Given the description of an element on the screen output the (x, y) to click on. 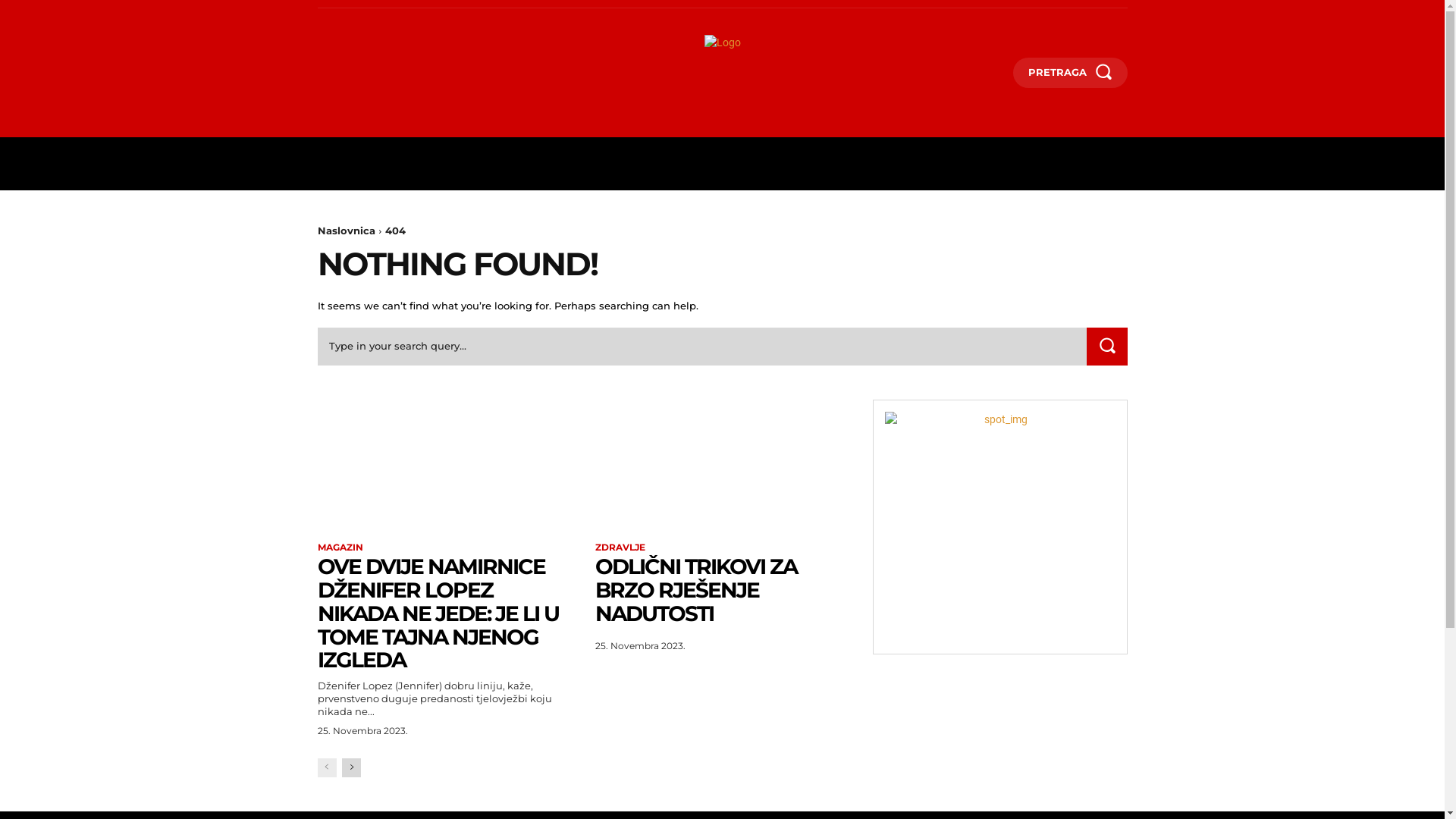
PRETRAGA Element type: text (1070, 72)
Naslovnica Element type: text (345, 230)
MAGAZIN Element type: text (339, 547)
ZDRAVLJE Element type: text (619, 547)
